Given the description of an element on the screen output the (x, y) to click on. 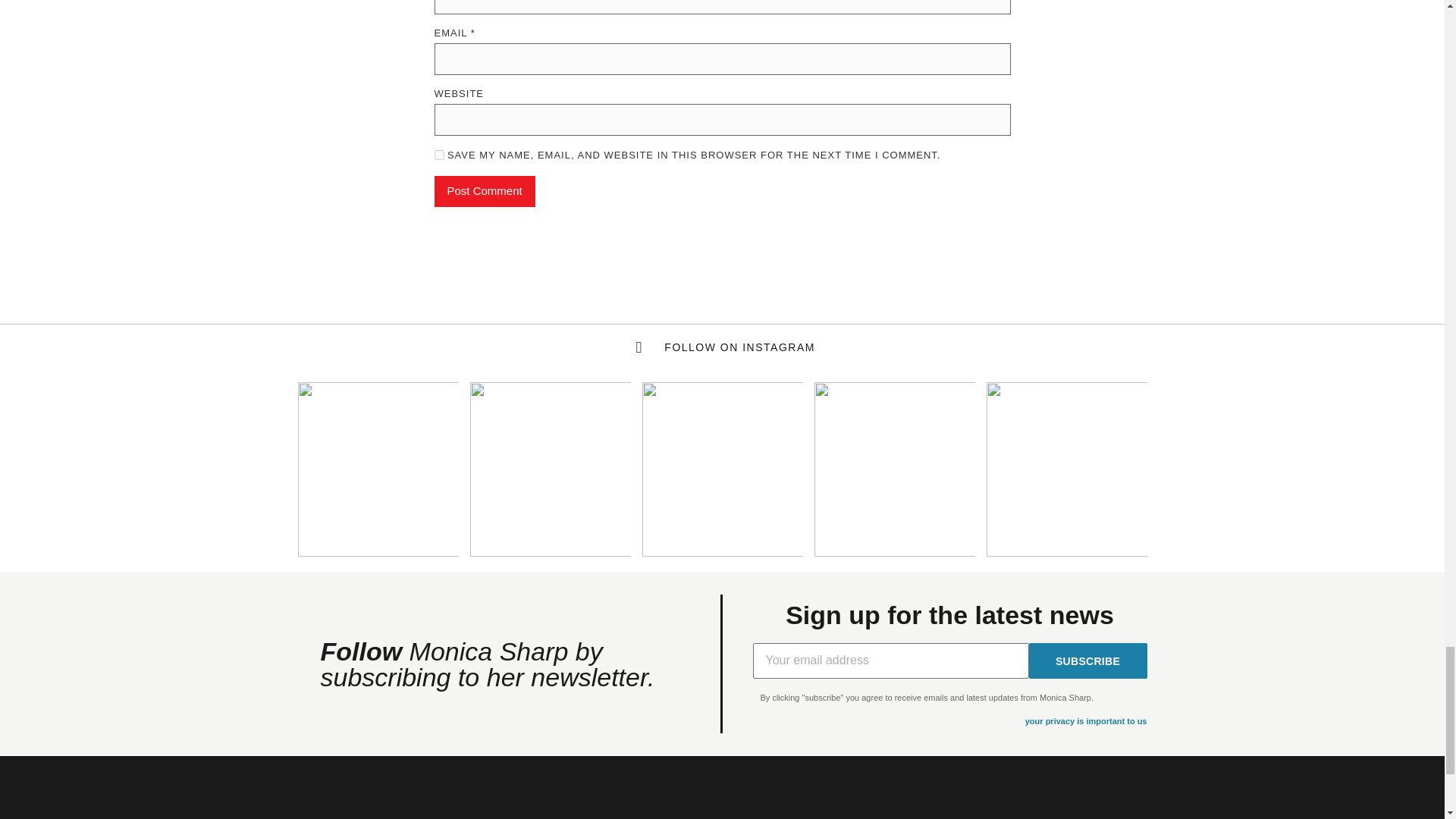
Post Comment (483, 191)
FOLLOW ON INSTAGRAM (722, 347)
SUBSCRIBE (1087, 660)
yes (438, 154)
Post Comment (483, 191)
